Given the description of an element on the screen output the (x, y) to click on. 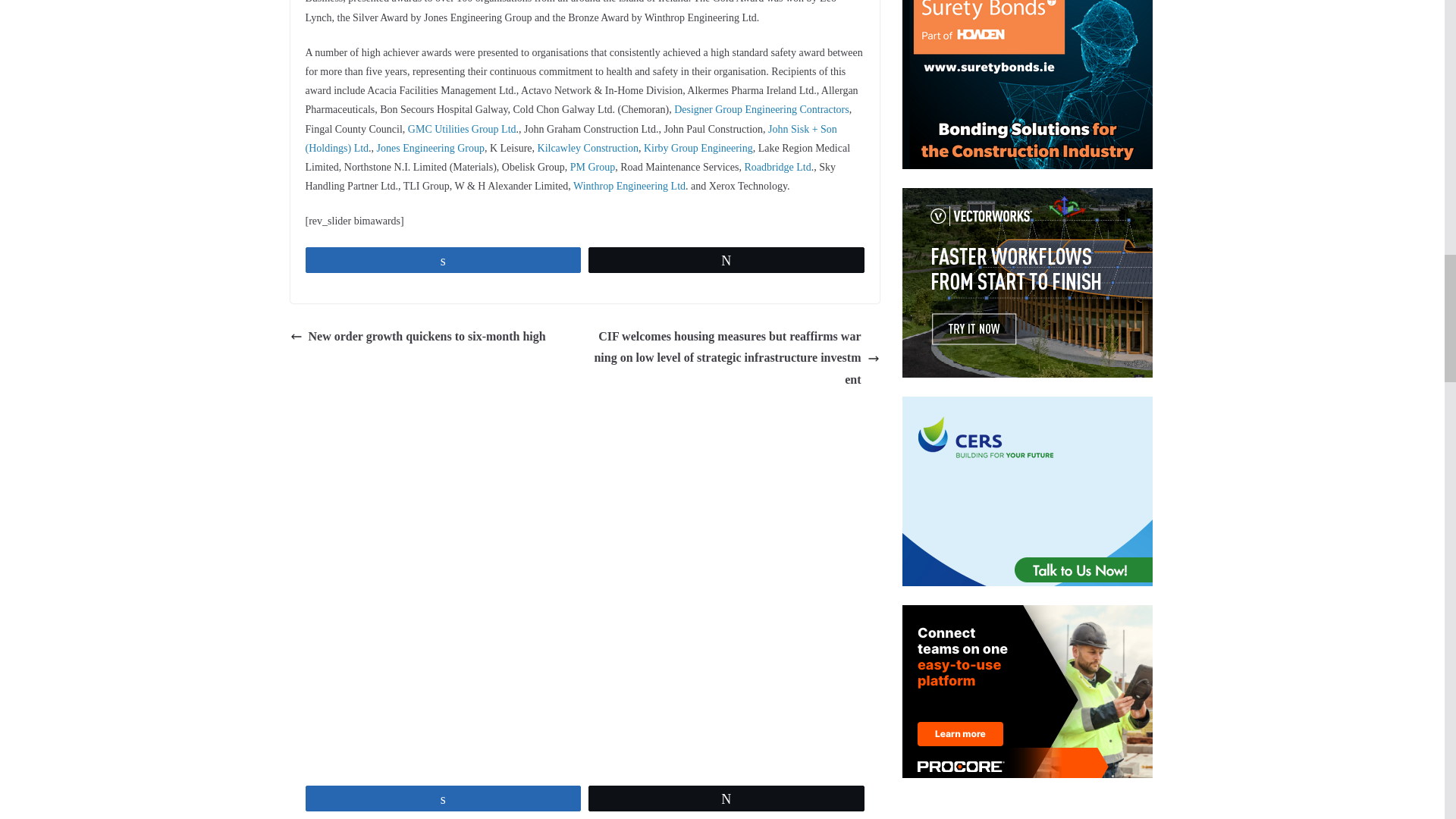
Designer Group Engineering Contractors (761, 109)
GMC Utilities Group Ltd (461, 129)
Roadbridge Ltd (777, 166)
PM Group (592, 166)
Jones Engineering Group (430, 147)
Kilcawley Construction (588, 147)
Kirby Group Engineering (697, 147)
